Given the description of an element on the screen output the (x, y) to click on. 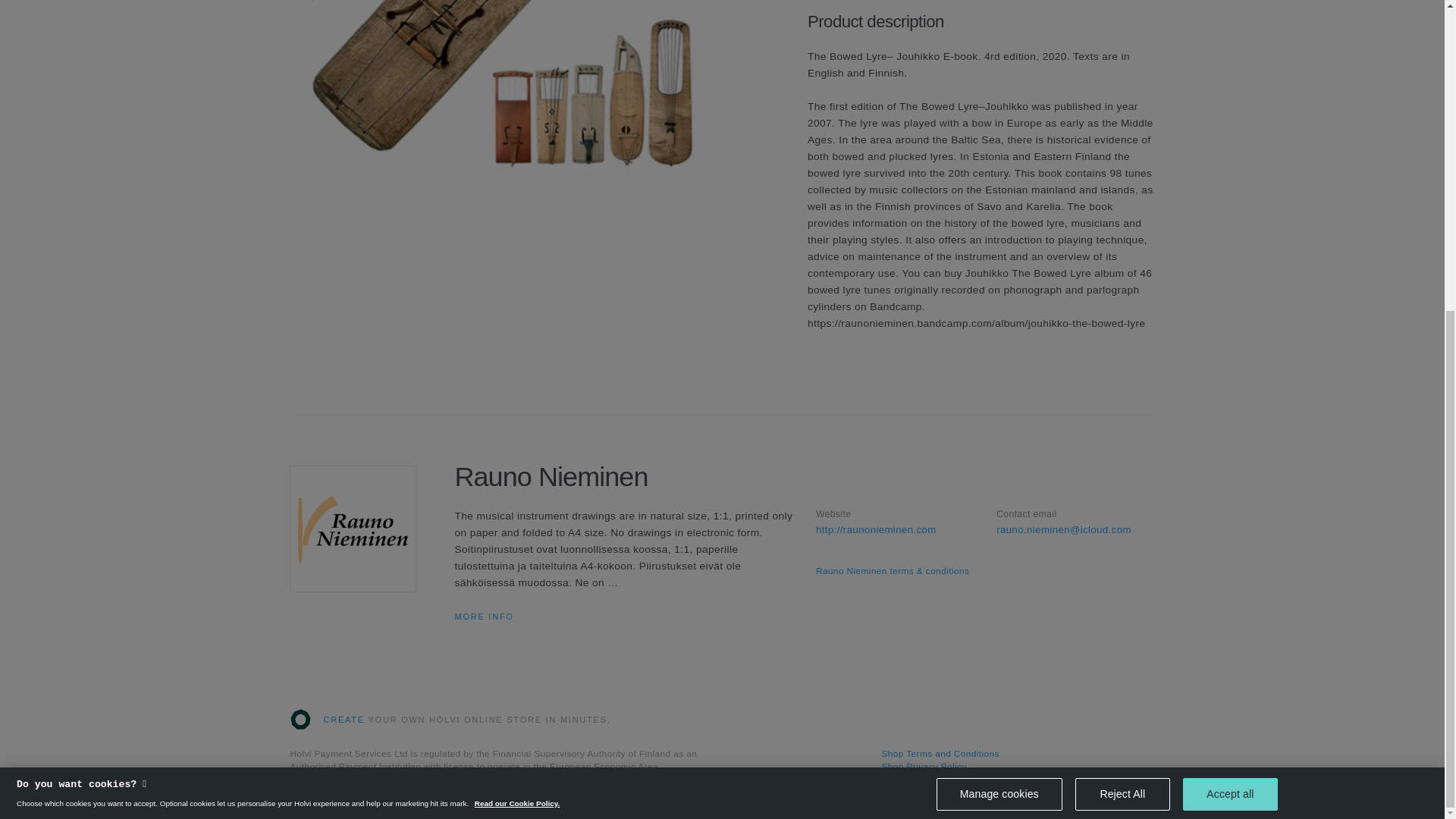
Accept all (1230, 301)
Shop Terms and Conditions (939, 753)
Shop Privacy Policy (923, 766)
Manage cookies (999, 303)
CREATE YOUR OWN HOLVI ONLINE STORE IN MINUTES. (449, 719)
Reject All (1122, 301)
Read our Cookie Policy. (516, 313)
